Given the description of an element on the screen output the (x, y) to click on. 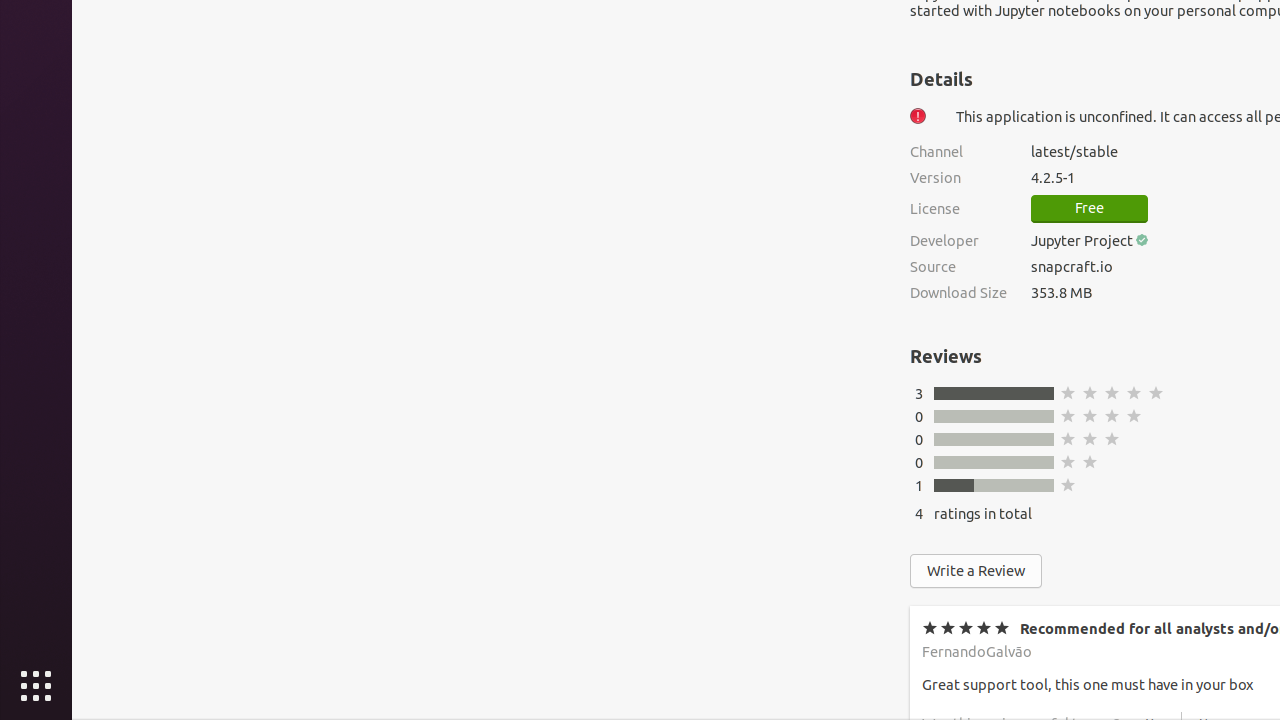
Reviews Element type: label (946, 356)
4 Element type: label (919, 513)
Warning Element type: icon (918, 116)
ratings in total Element type: label (983, 513)
Version Element type: label (958, 177)
